Given the description of an element on the screen output the (x, y) to click on. 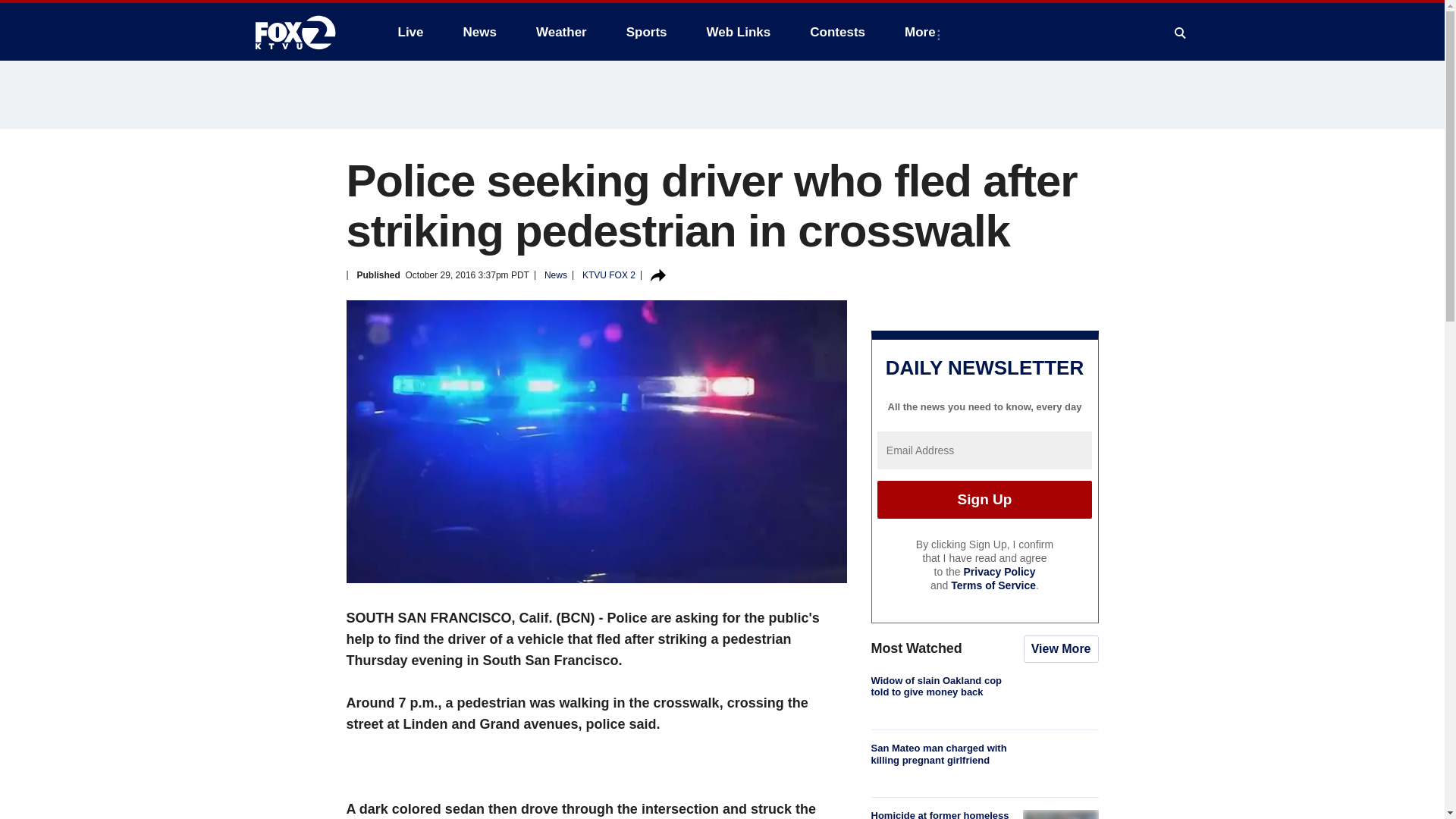
Sign Up (984, 499)
Contests (837, 32)
Live (410, 32)
More (922, 32)
Weather (561, 32)
Web Links (738, 32)
News (479, 32)
Sports (646, 32)
